Given the description of an element on the screen output the (x, y) to click on. 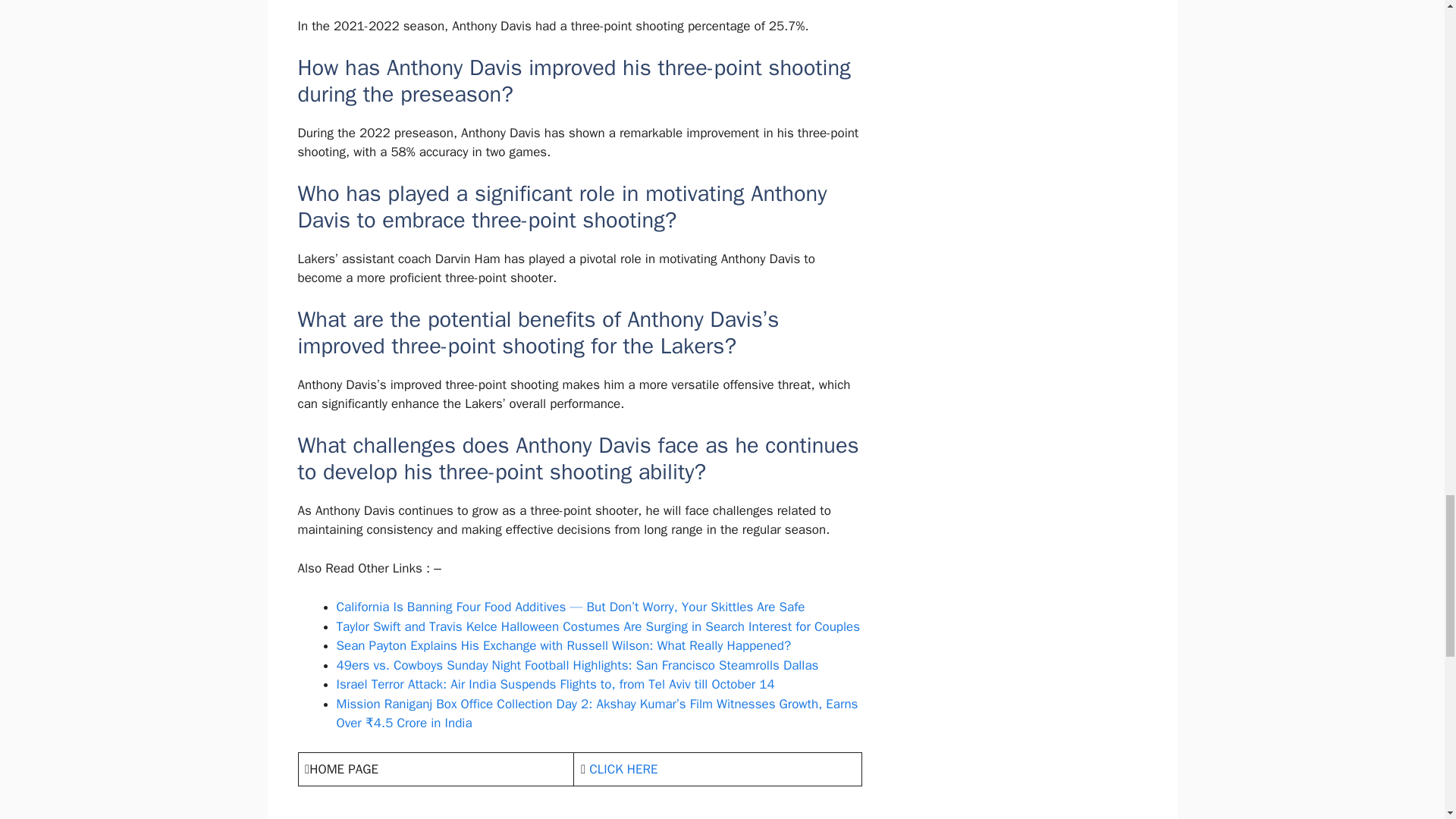
CLICK HERE (623, 769)
